Given the description of an element on the screen output the (x, y) to click on. 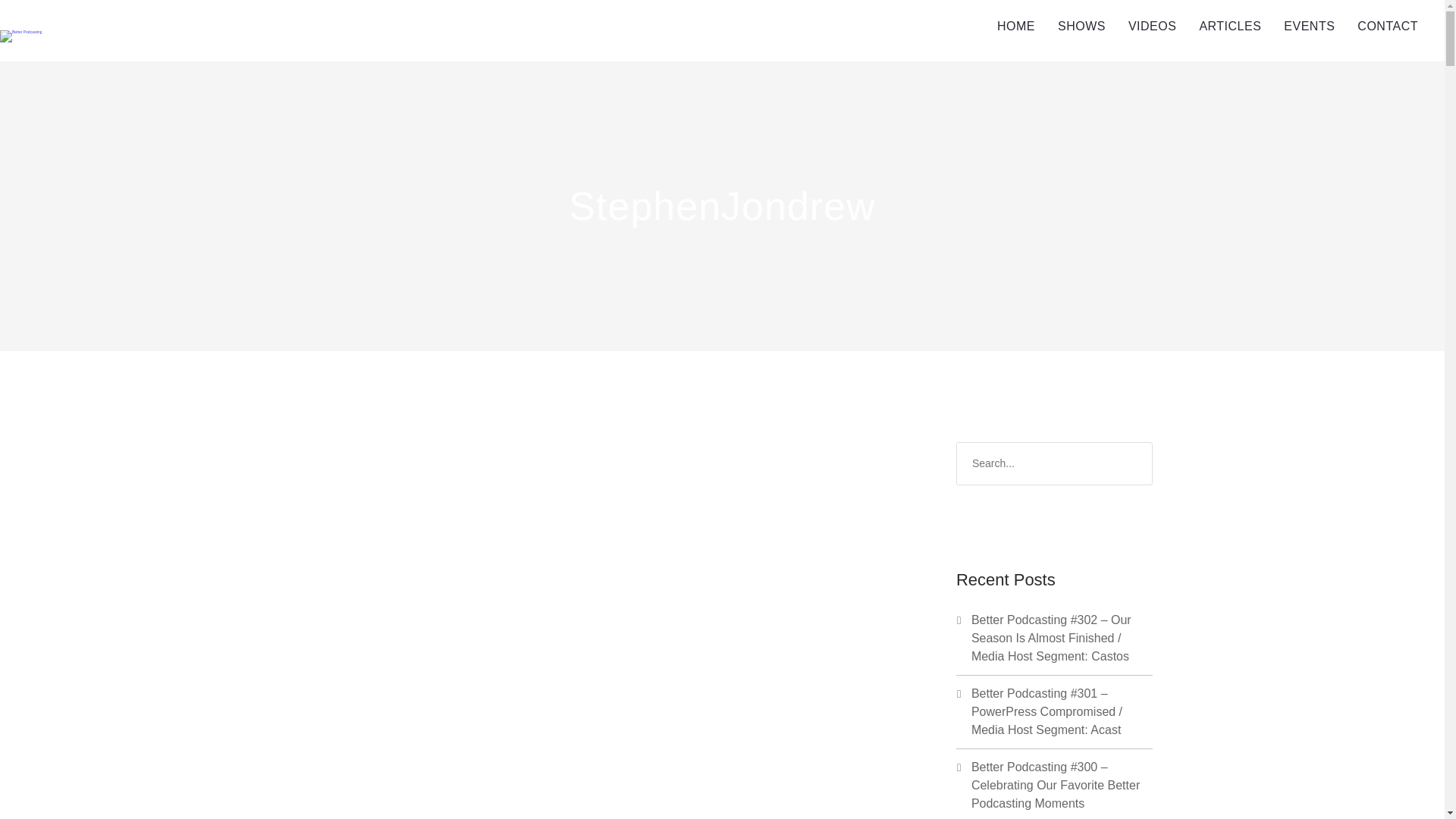
VIDEOS (1152, 26)
SHOWS (1081, 26)
ARTICLES (1230, 26)
CONTACT (1387, 26)
EVENTS (1308, 26)
HOME (1015, 26)
